Given the description of an element on the screen output the (x, y) to click on. 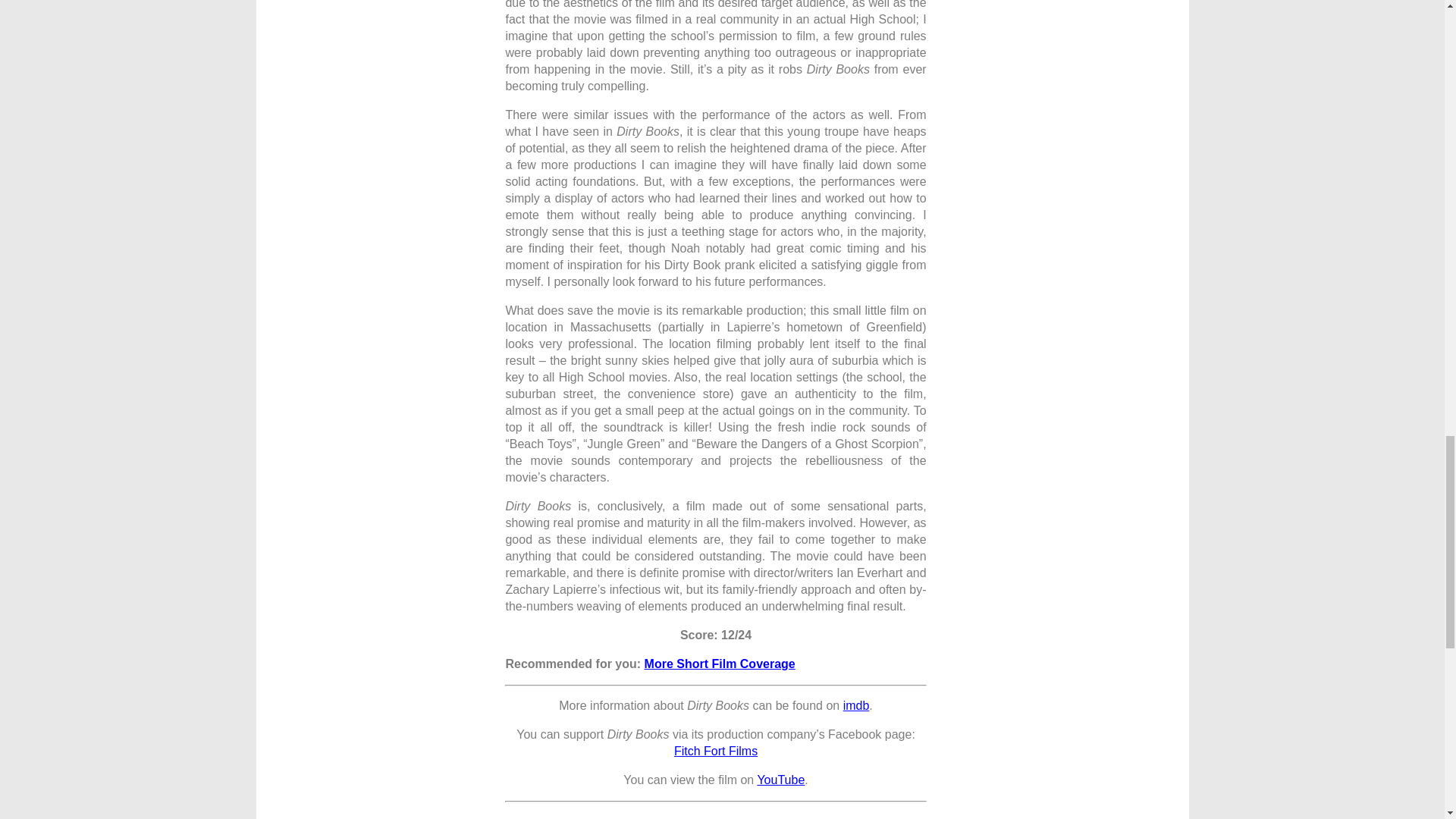
YouTube (781, 779)
imdb (856, 705)
More Short Film Coverage (719, 663)
Fitch Fort Films (715, 750)
